Given the description of an element on the screen output the (x, y) to click on. 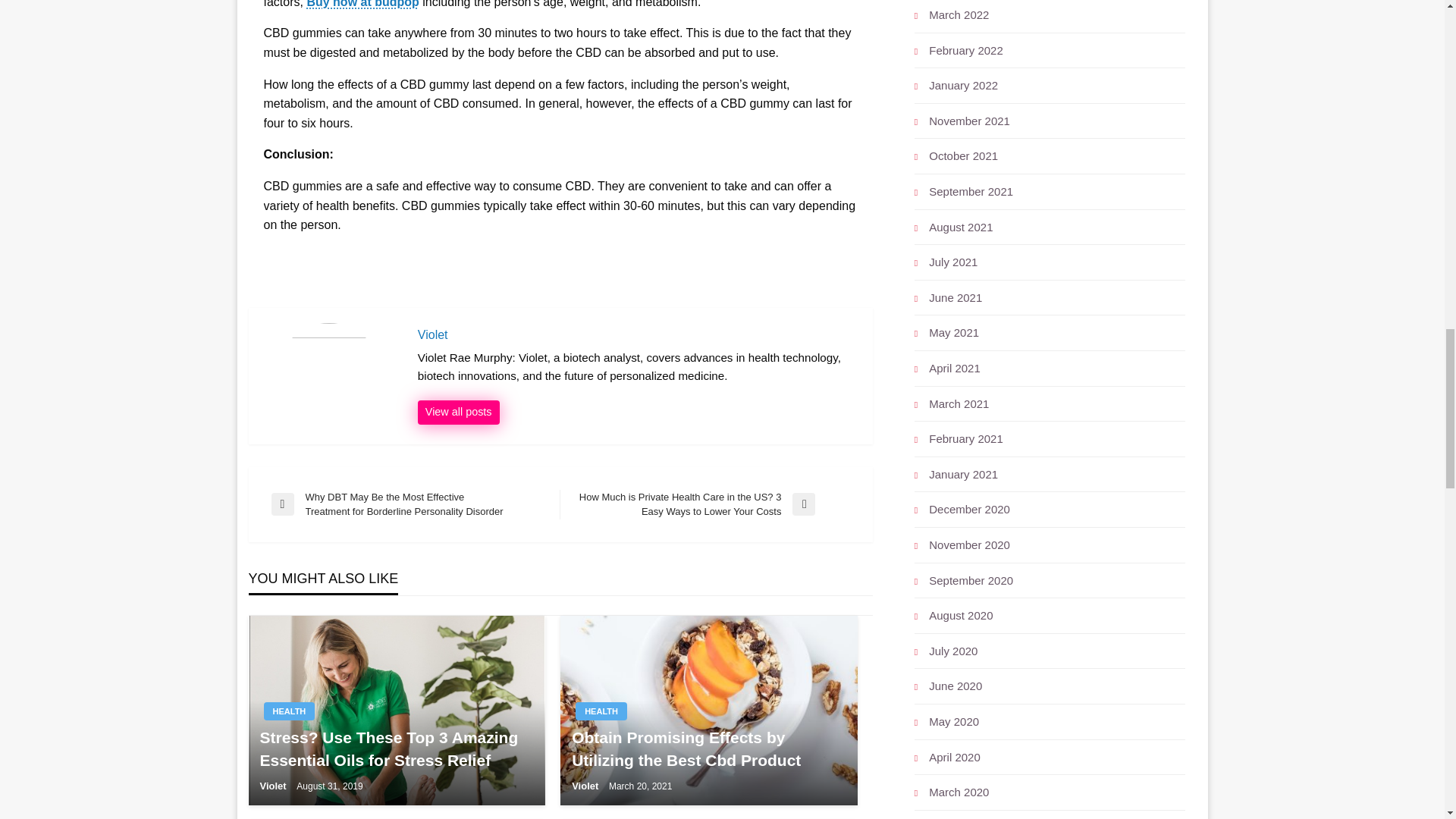
View all posts (458, 412)
Violet (273, 785)
Violet (458, 412)
Obtain Promising Effects by Utilizing the Best Cbd Product (708, 748)
Buy now at budpop (362, 4)
Violet (586, 785)
Violet (637, 335)
